Given the description of an element on the screen output the (x, y) to click on. 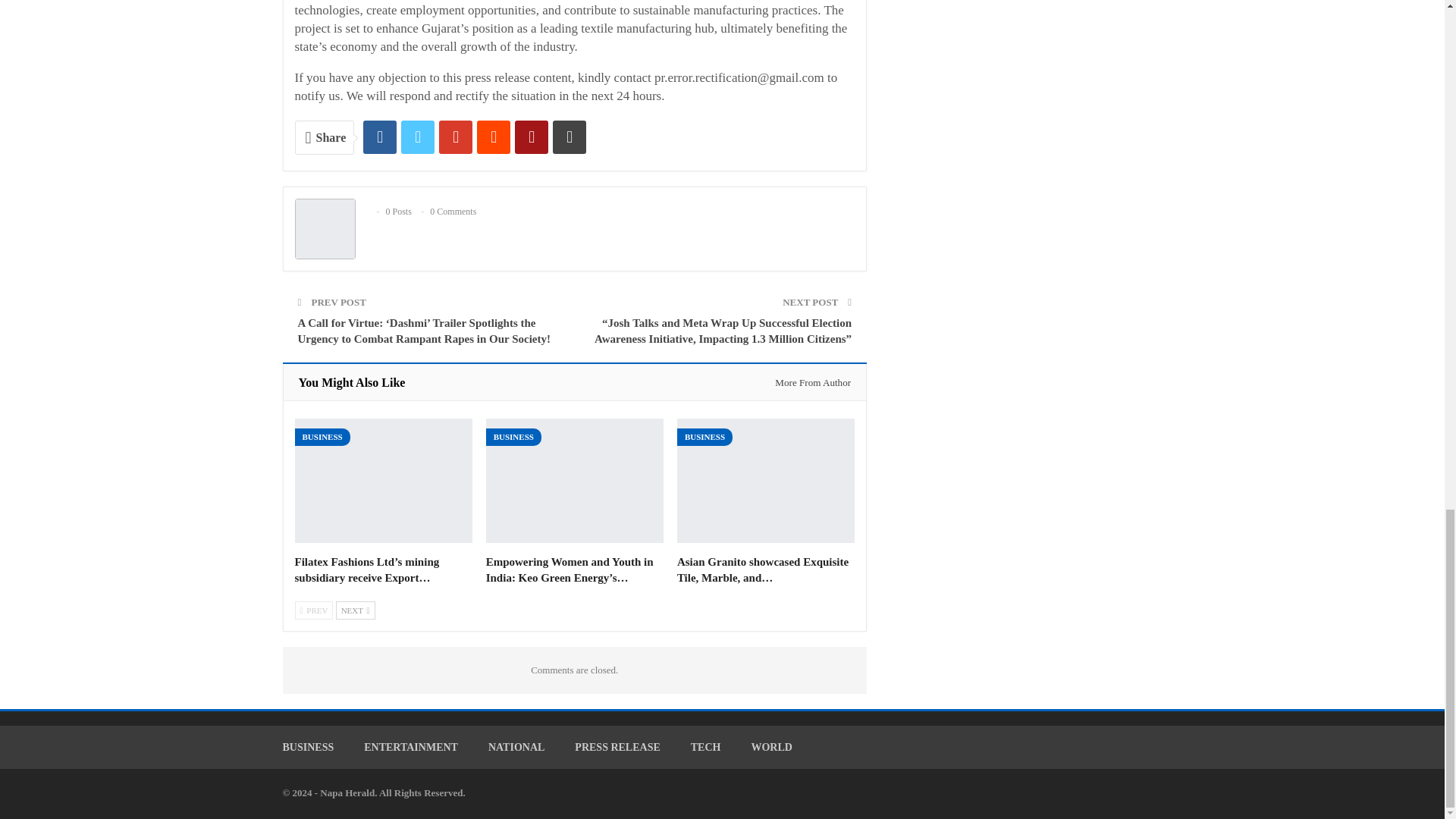
More From Author (807, 382)
Next (355, 610)
Previous (313, 610)
You Might Also Like (352, 382)
BUSINESS (321, 436)
